Given the description of an element on the screen output the (x, y) to click on. 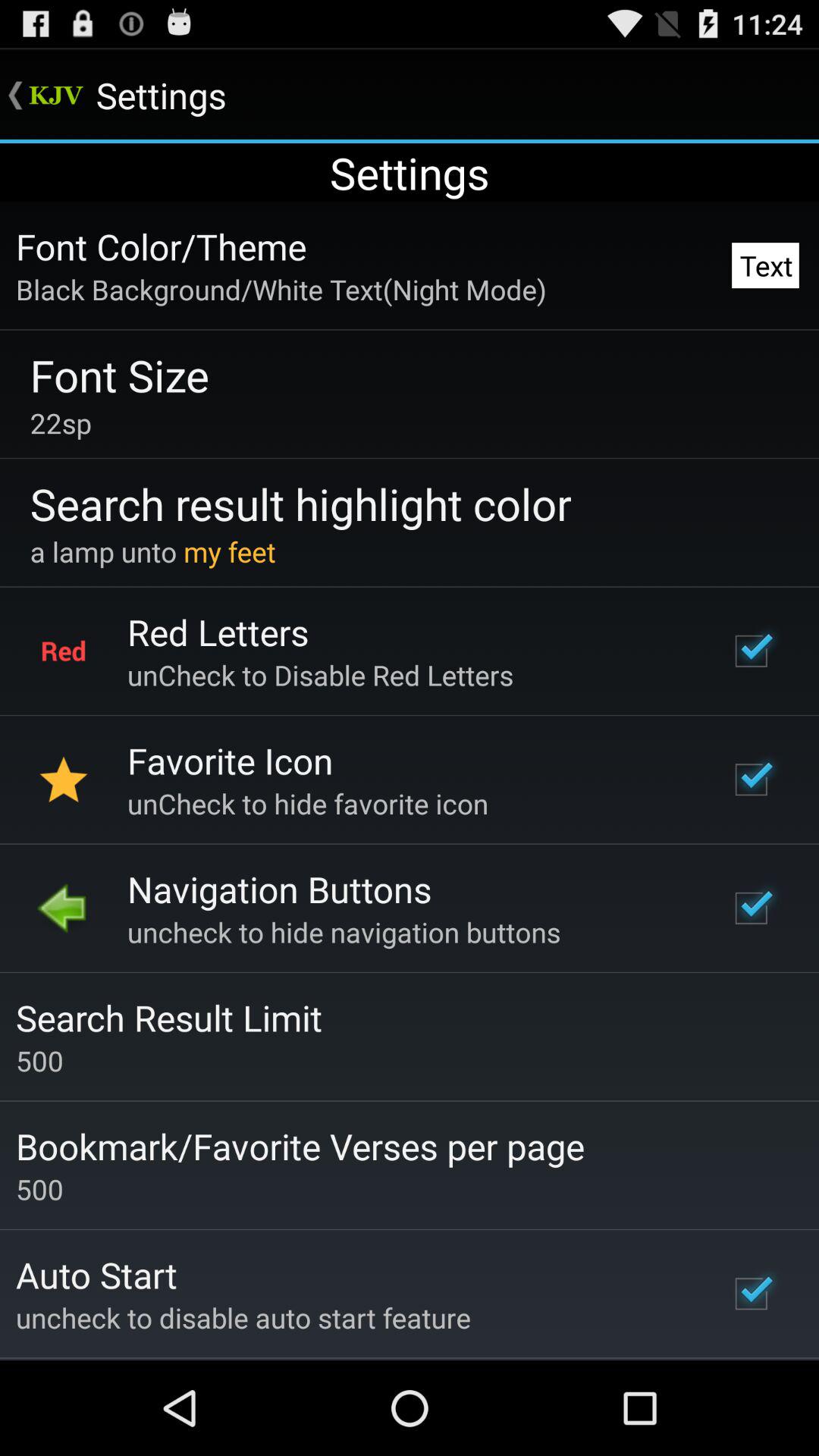
turn off the a lamp unto icon (152, 551)
